Given the description of an element on the screen output the (x, y) to click on. 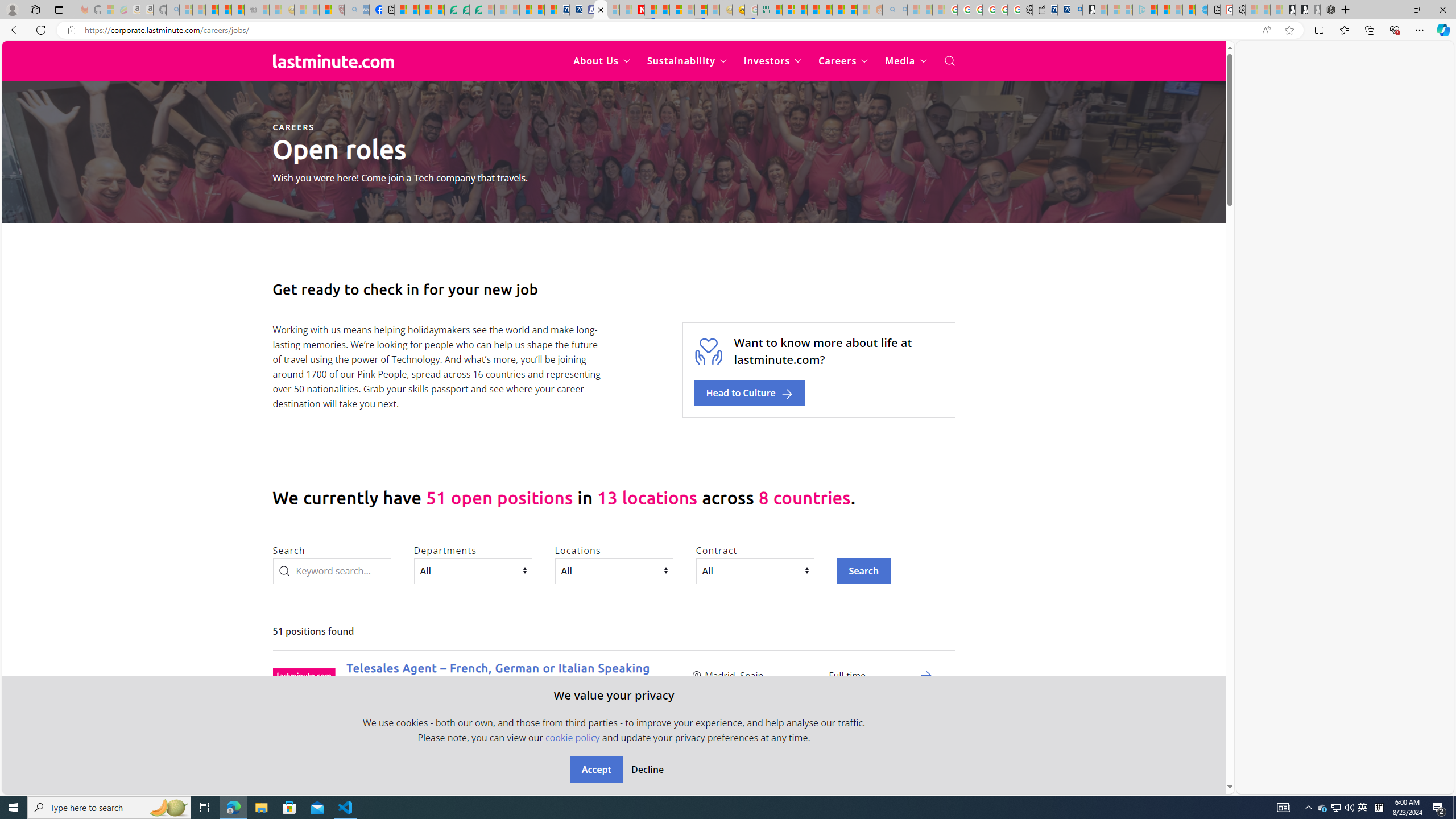
Read aloud this page (Ctrl+Shift+U) (1266, 29)
Split screen (1318, 29)
Decline (646, 769)
Full Stack Engineer (401, 768)
LendingTree - Compare Lenders (450, 9)
Locations (613, 570)
Jobs - lastminute.com Investor Portal (600, 9)
